Given the description of an element on the screen output the (x, y) to click on. 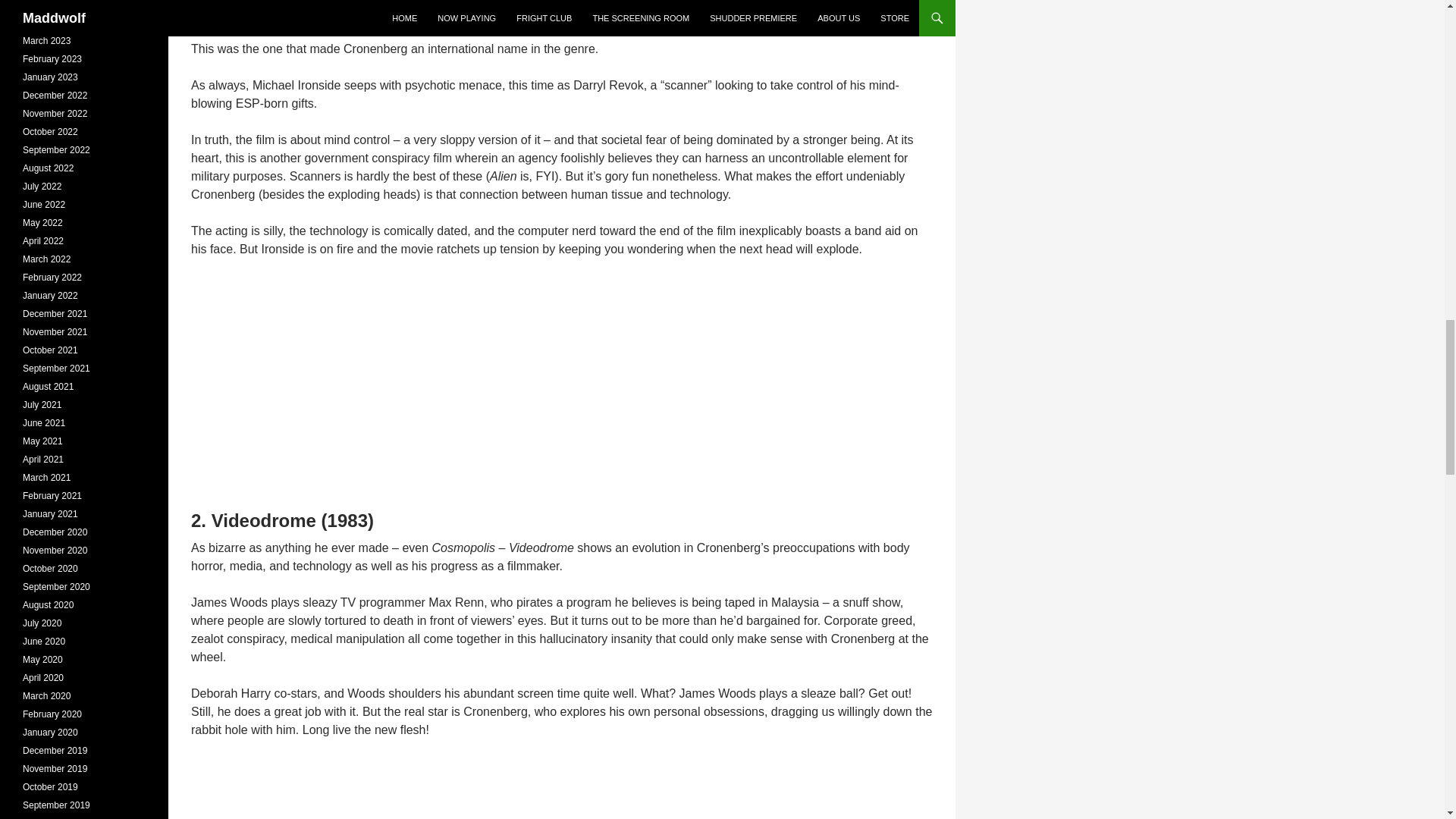
Scanners Trailer HD (370, 377)
